Given the description of an element on the screen output the (x, y) to click on. 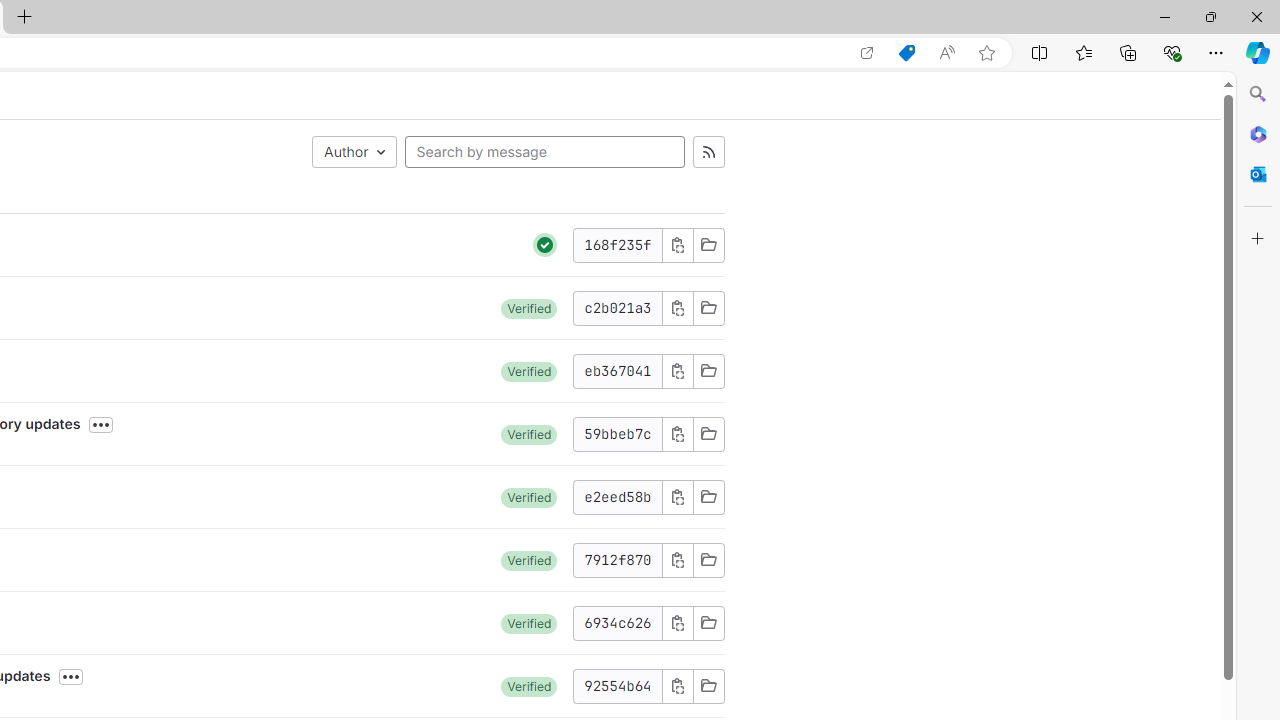
Search by message (544, 151)
Open in app (867, 53)
Verified (529, 685)
Class: s16 gl-icon gl-button-icon  (677, 686)
Author (354, 151)
Copy commit SHA (676, 686)
Commits feed (708, 151)
